Given the description of an element on the screen output the (x, y) to click on. 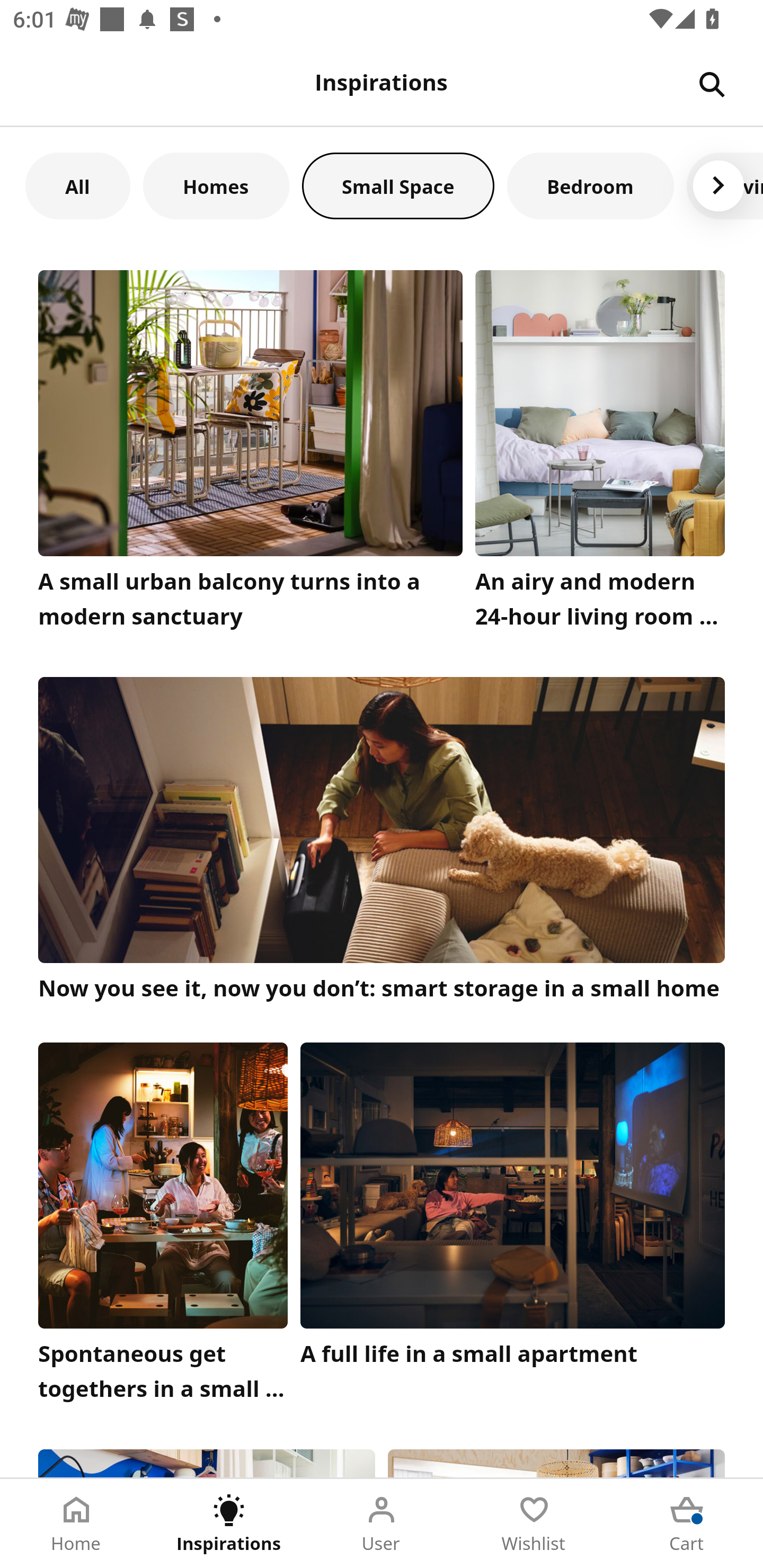
All (77, 185)
Homes (216, 185)
Small Space (398, 185)
Bedroom (590, 185)
An airy and modern 24-hour living room oasis (599, 453)
Spontaneous get togethers in a small apartment (162, 1226)
A full life in a small apartment (512, 1226)
Home
Tab 1 of 5 (76, 1522)
Inspirations
Tab 2 of 5 (228, 1522)
User
Tab 3 of 5 (381, 1522)
Wishlist
Tab 4 of 5 (533, 1522)
Cart
Tab 5 of 5 (686, 1522)
